Given the description of an element on the screen output the (x, y) to click on. 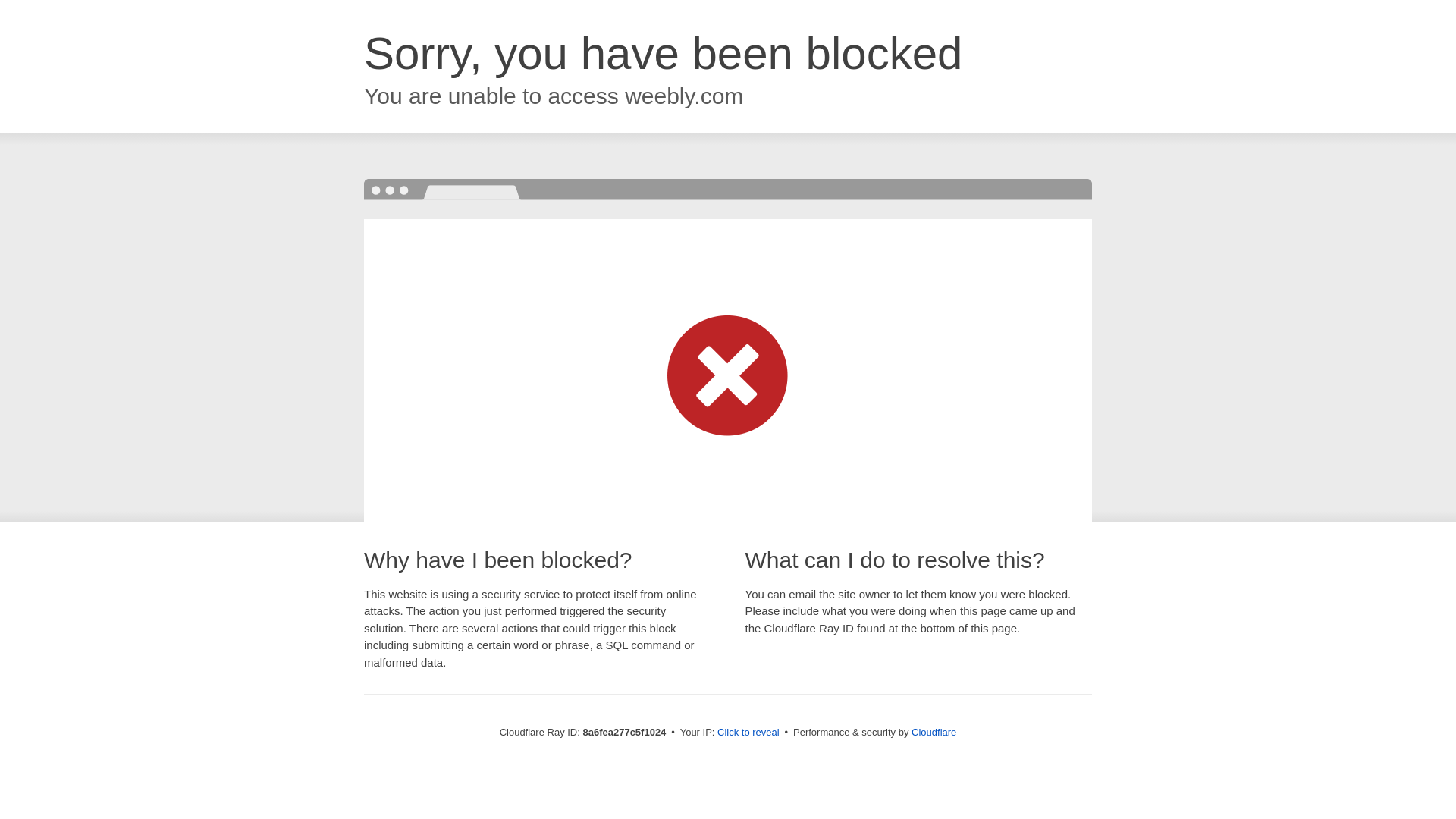
Cloudflare (933, 731)
Click to reveal (747, 732)
